Given the description of an element on the screen output the (x, y) to click on. 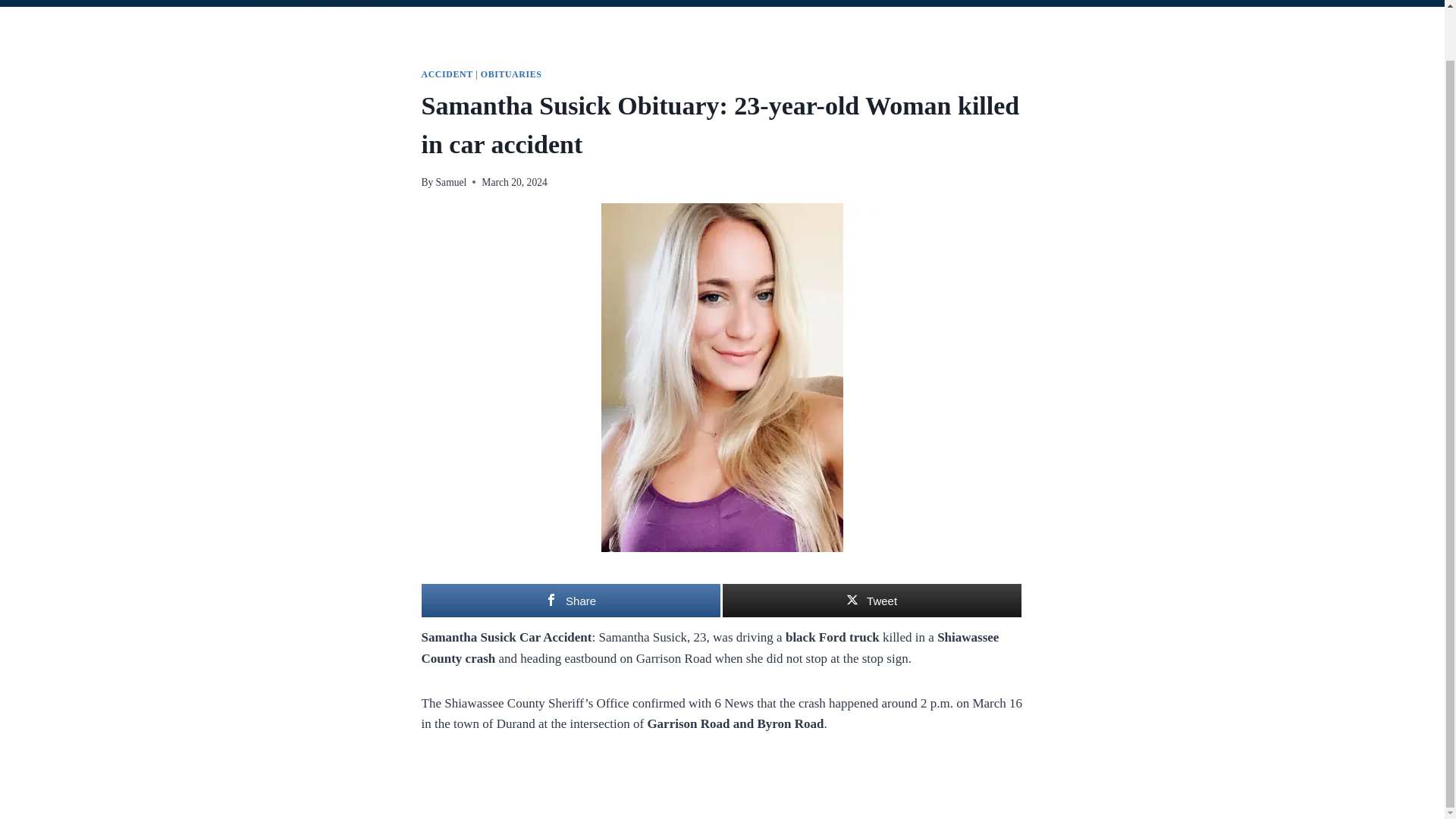
Samuel (451, 182)
Share (571, 600)
Tweet (871, 600)
ACCIDENT (447, 73)
OBITUARIES (510, 73)
